Given the description of an element on the screen output the (x, y) to click on. 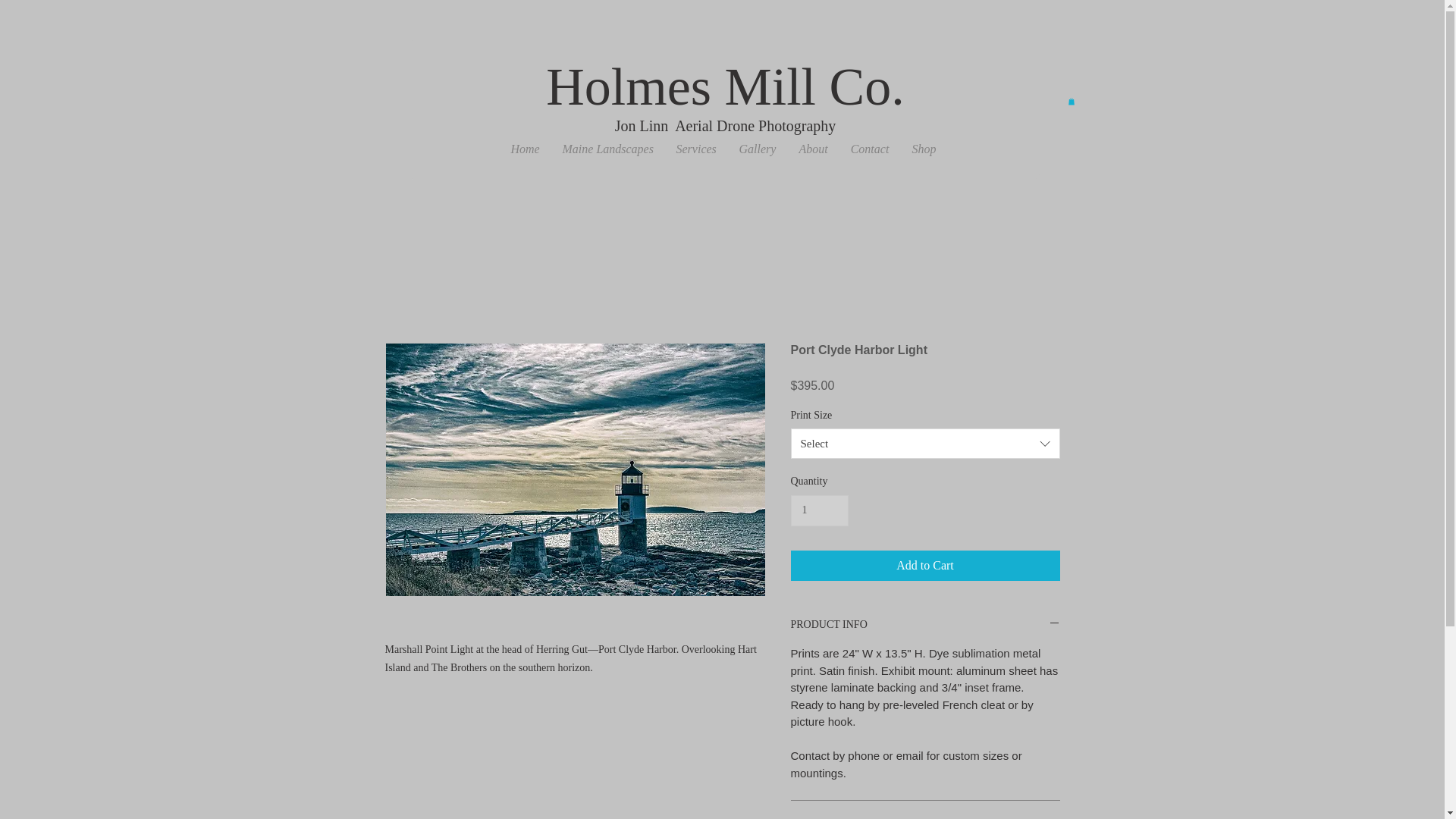
Select (924, 443)
Add to Cart (924, 565)
PRODUCT INFO (924, 625)
About (812, 149)
Contact (868, 149)
1 (818, 510)
Holmes Mill Co. (725, 86)
Home (524, 149)
